Given the description of an element on the screen output the (x, y) to click on. 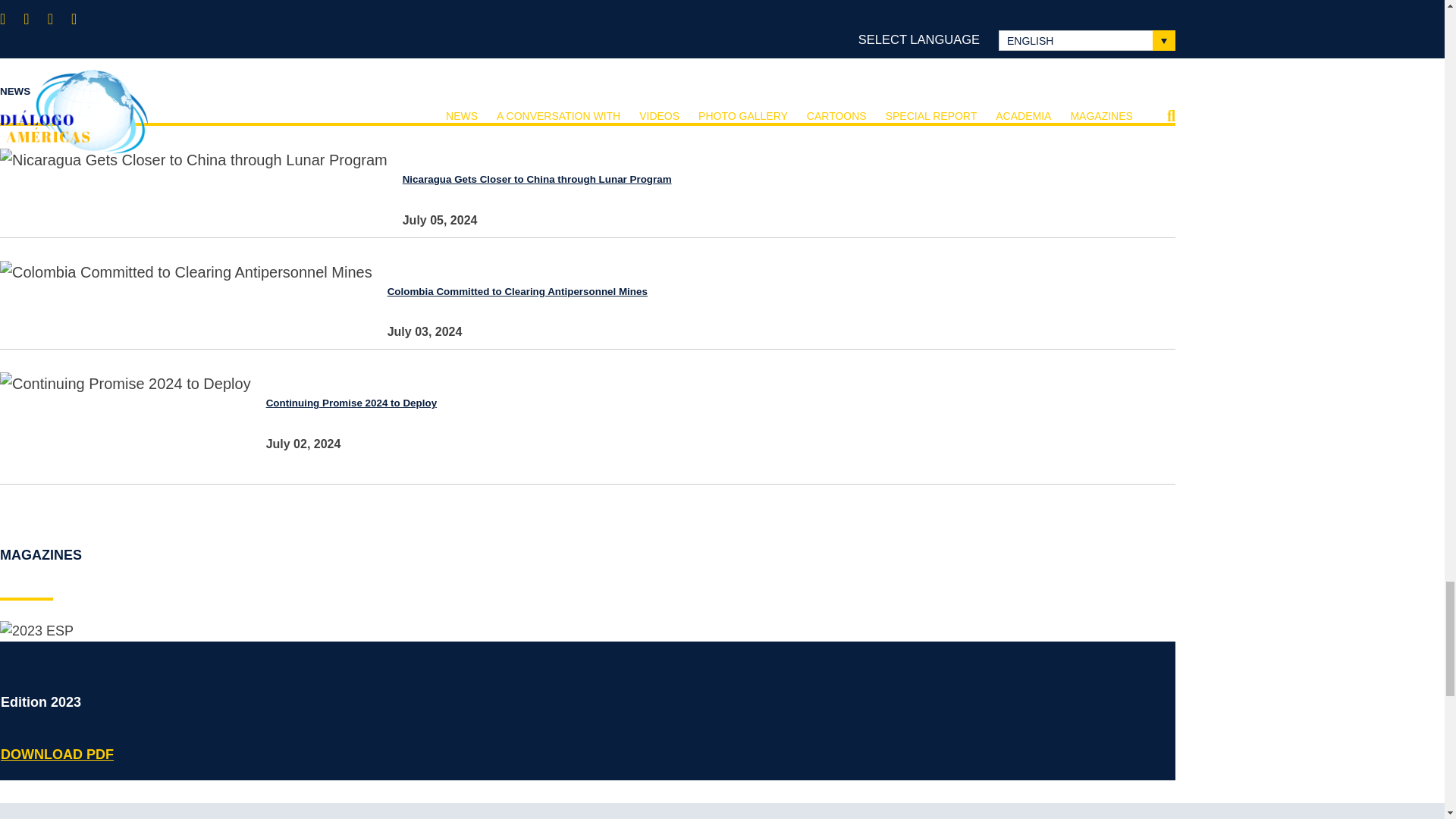
Continuing Promise 2024 to Deploy (343, 403)
Nicaragua Gets Closer to China through Lunar Program (529, 179)
Colombia Committed to Clearing Antipersonnel Mines (509, 291)
